Given the description of an element on the screen output the (x, y) to click on. 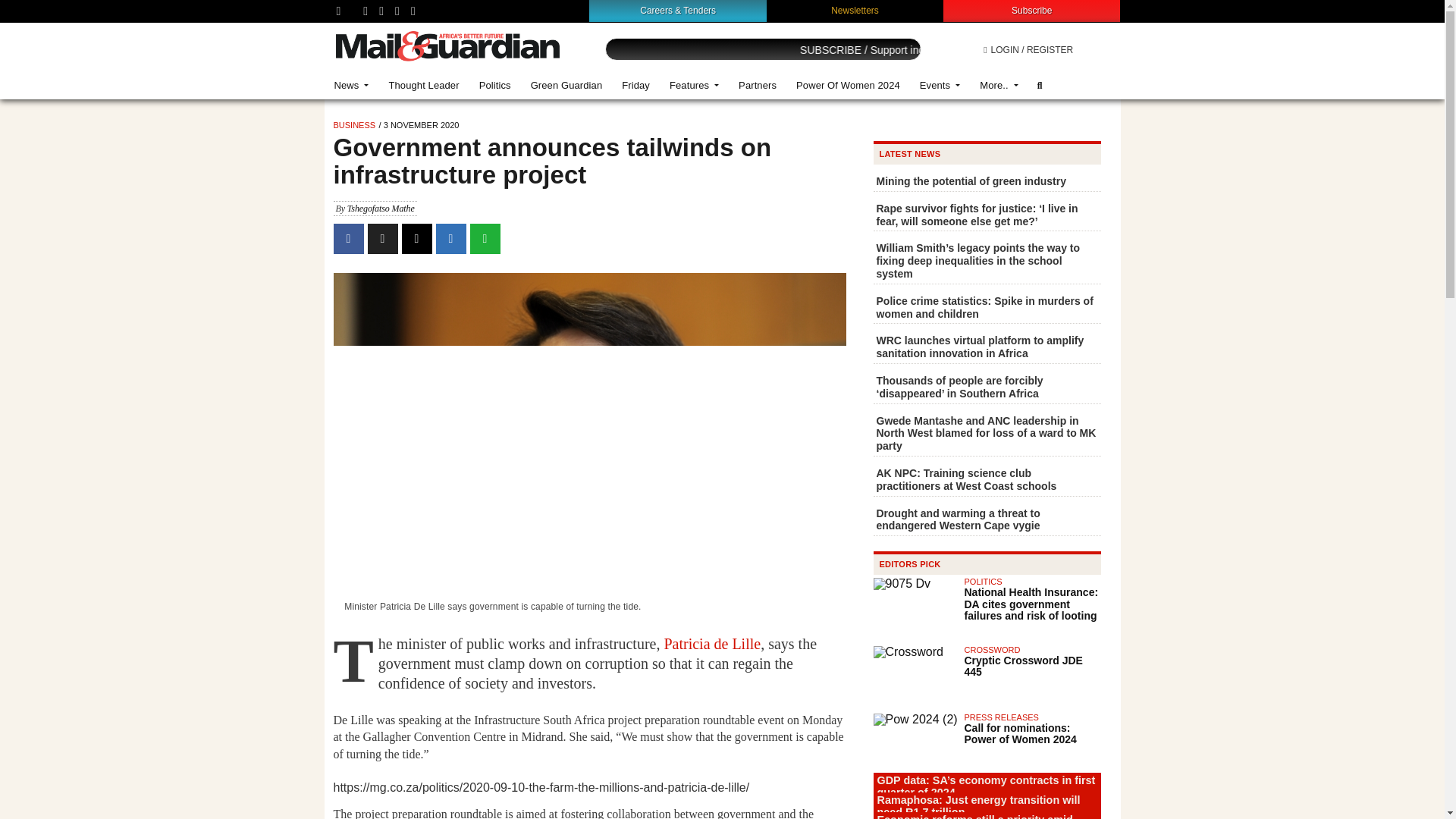
Newsletters (855, 9)
Subscribe (1031, 9)
Green Guardian (566, 85)
Politics (494, 85)
News (351, 85)
News (351, 85)
Features (694, 85)
Thought Leader (423, 85)
Friday (635, 85)
